Given the description of an element on the screen output the (x, y) to click on. 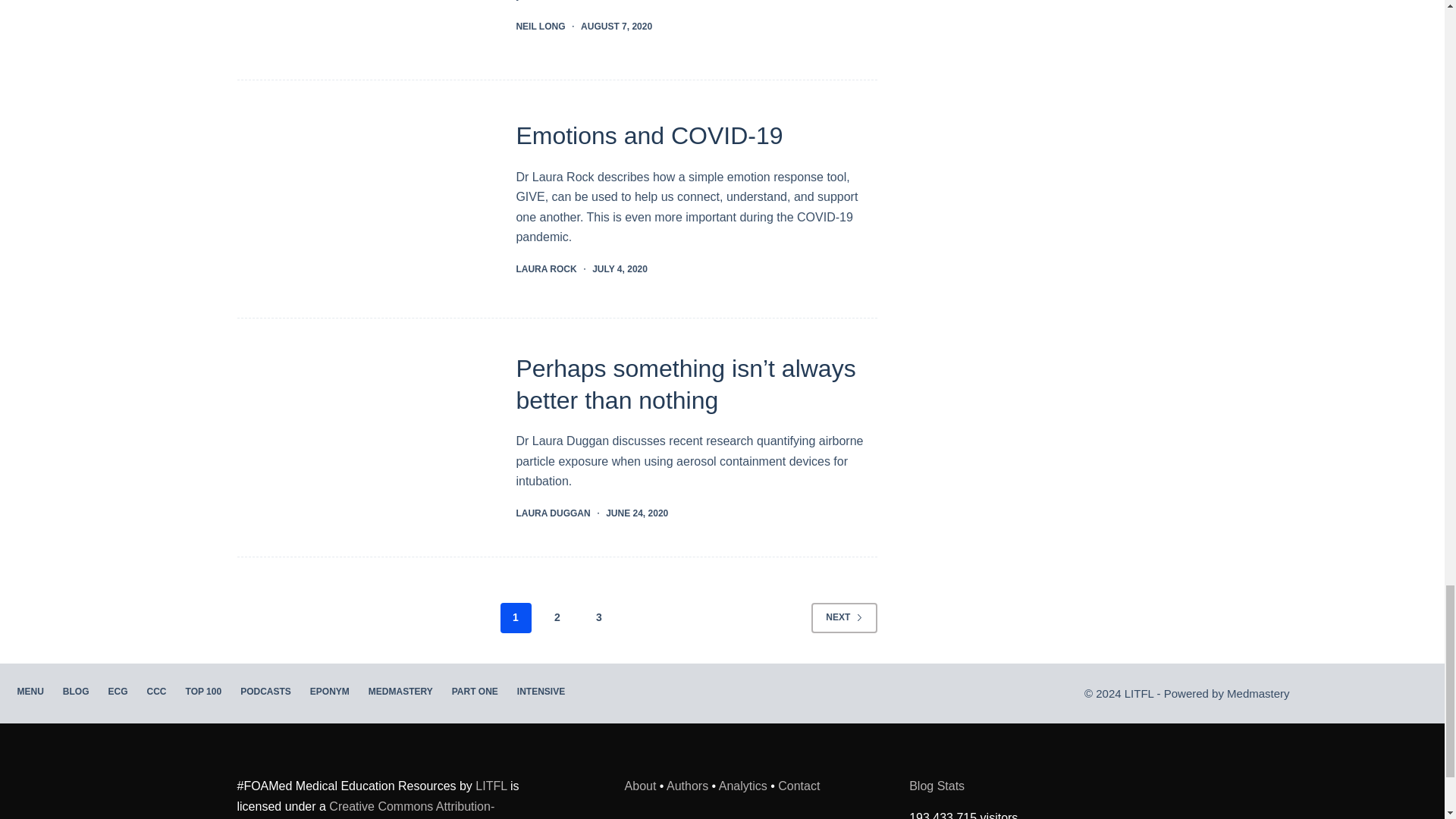
Posts by Laura Duggan (552, 512)
Posts by Neil Long (539, 26)
Posts by Laura Rock (545, 268)
